Given the description of an element on the screen output the (x, y) to click on. 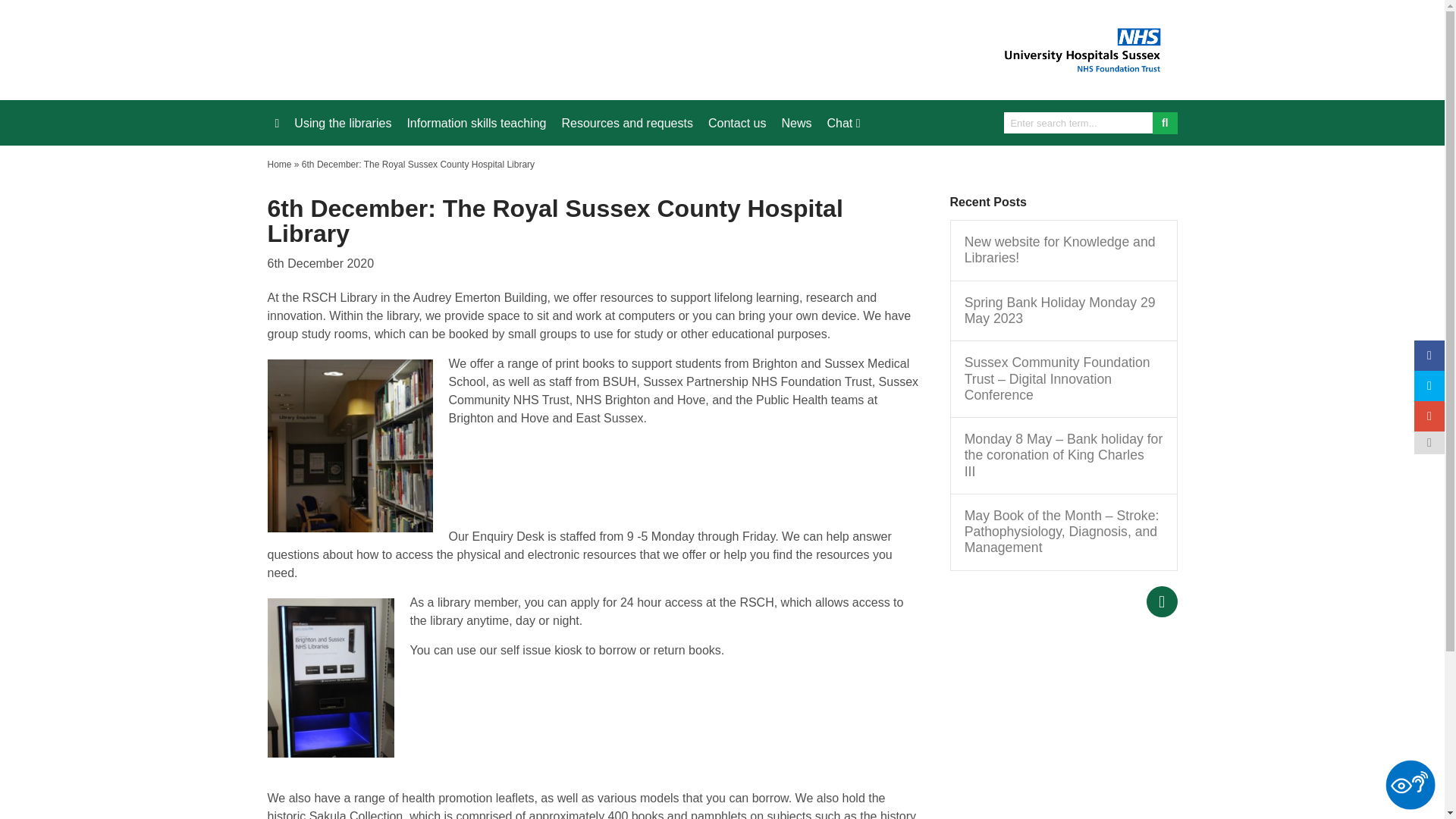
Information skills teaching (475, 122)
News (795, 122)
Resources and requests (626, 122)
New website for Knowledge and Libraries! (1063, 250)
Chat (842, 122)
Contact us (736, 122)
Using the libraries (342, 122)
Home (278, 163)
Spring Bank Holiday Monday 29 May 2023 (1063, 310)
